Given the description of an element on the screen output the (x, y) to click on. 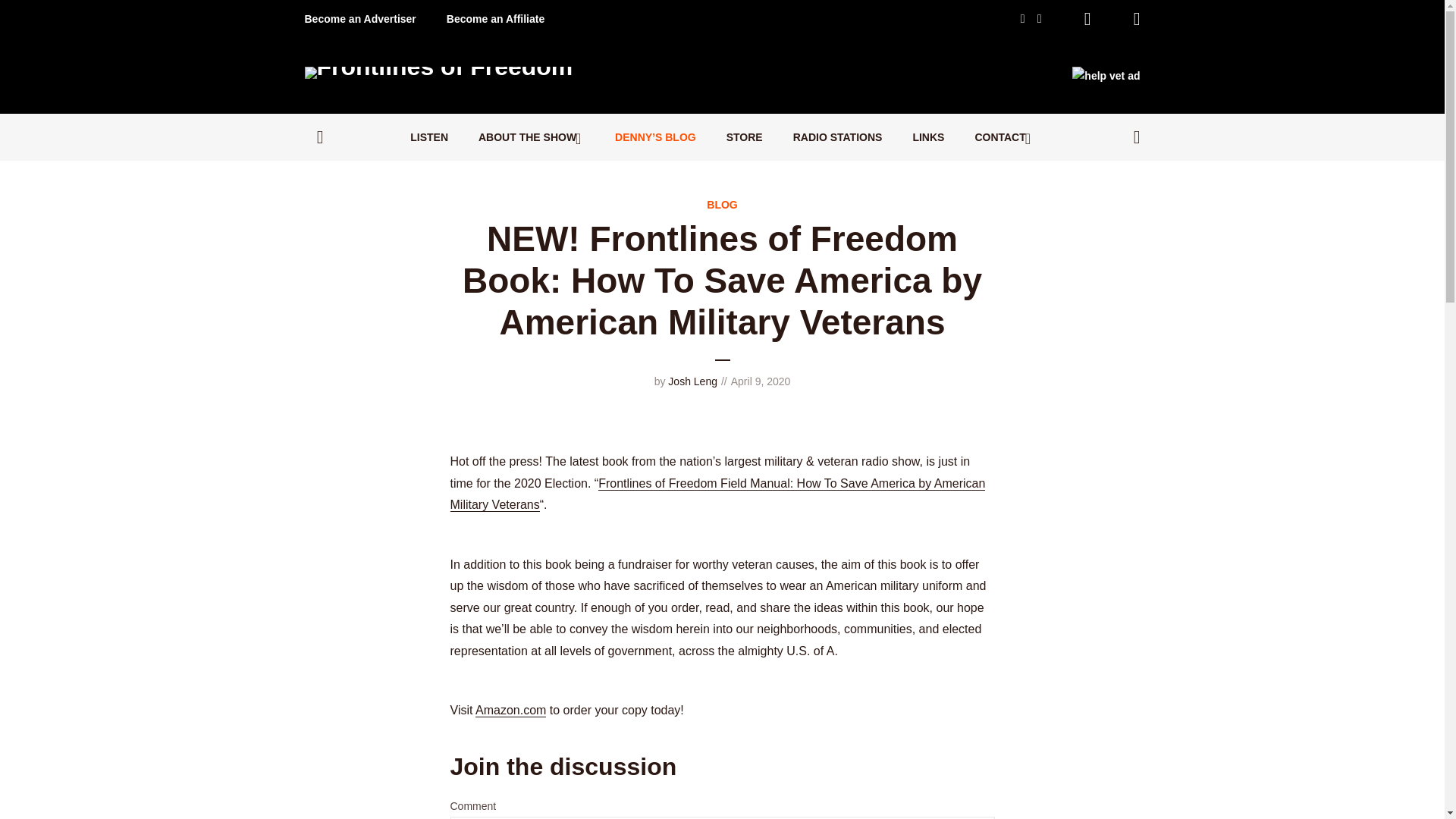
ABOUT THE SHOW (532, 136)
CONTACT (1003, 136)
STORE (744, 136)
Become an Affiliate (495, 18)
LISTEN (429, 136)
Become an Advertiser (360, 18)
RADIO STATIONS (837, 136)
